Given the description of an element on the screen output the (x, y) to click on. 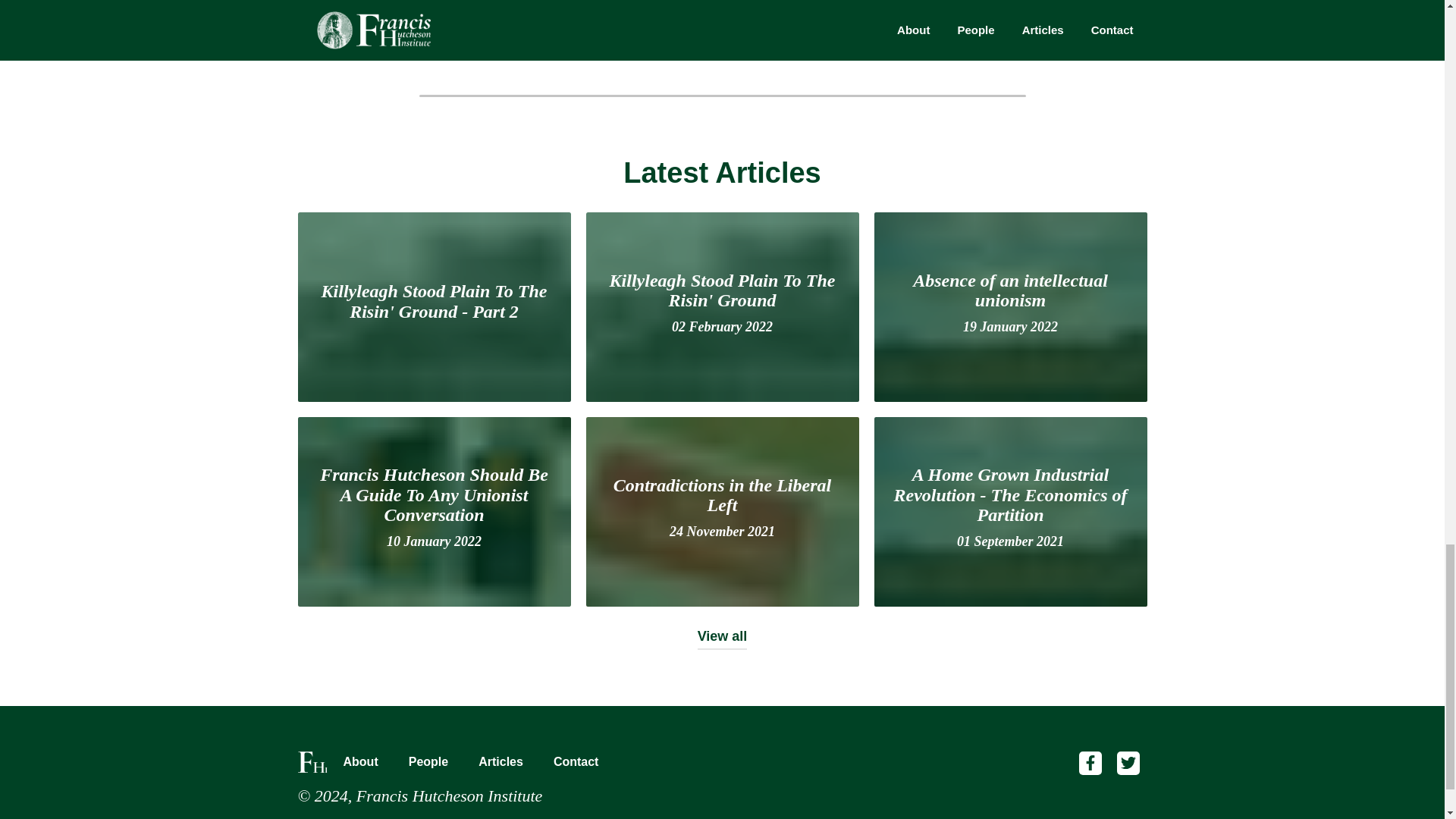
People (722, 511)
View all (428, 762)
Latest Articles (722, 644)
Articles (722, 185)
About (1010, 307)
Contact (500, 762)
